Given the description of an element on the screen output the (x, y) to click on. 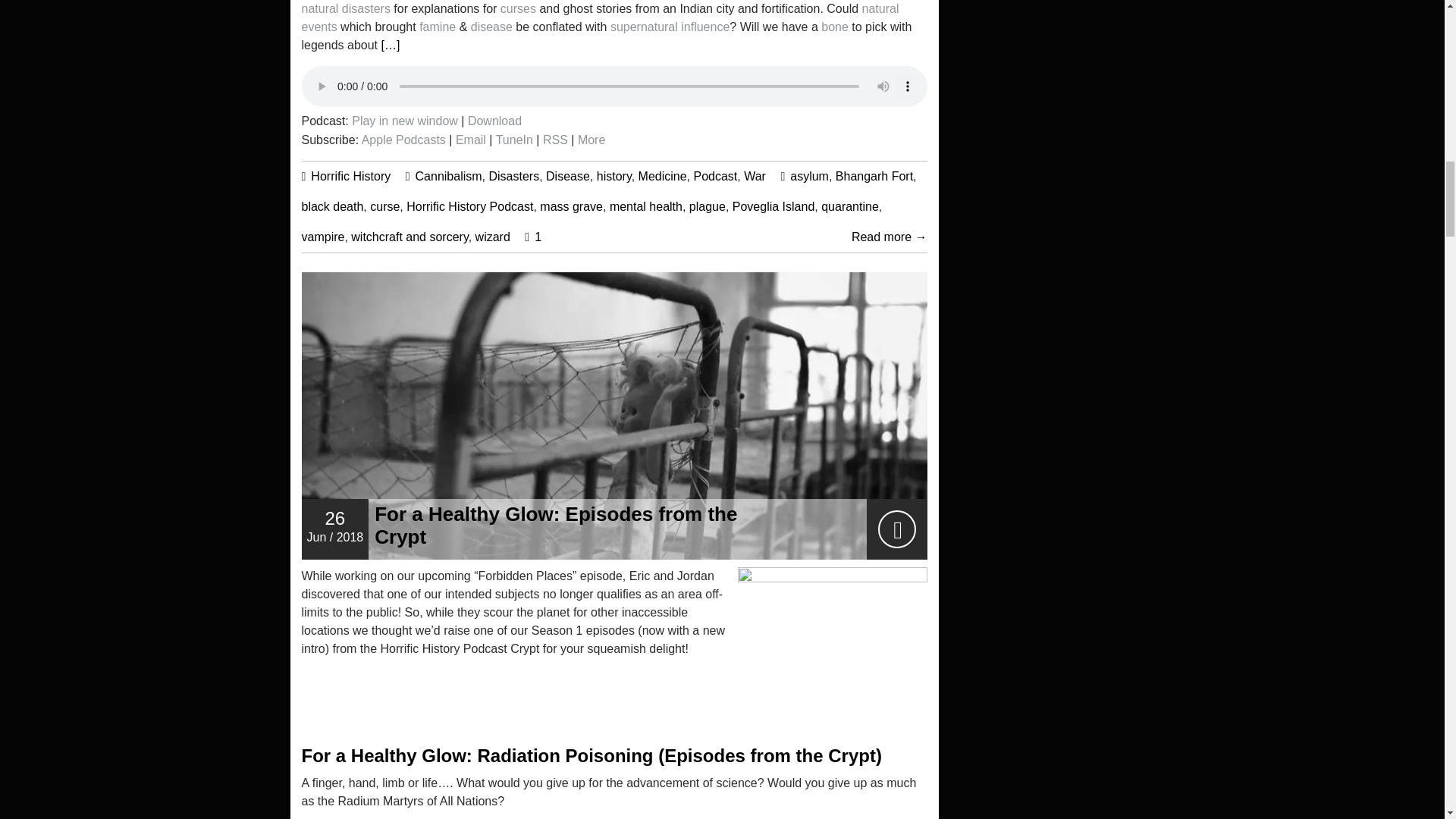
Subscribe by Email (470, 139)
Subscribe on Apple Podcasts (403, 139)
Download (494, 120)
Subscribe on TuneIn (514, 139)
More (591, 139)
Subscribe via RSS (555, 139)
Posts by Horrific History (350, 175)
Play in new window (405, 120)
